Given the description of an element on the screen output the (x, y) to click on. 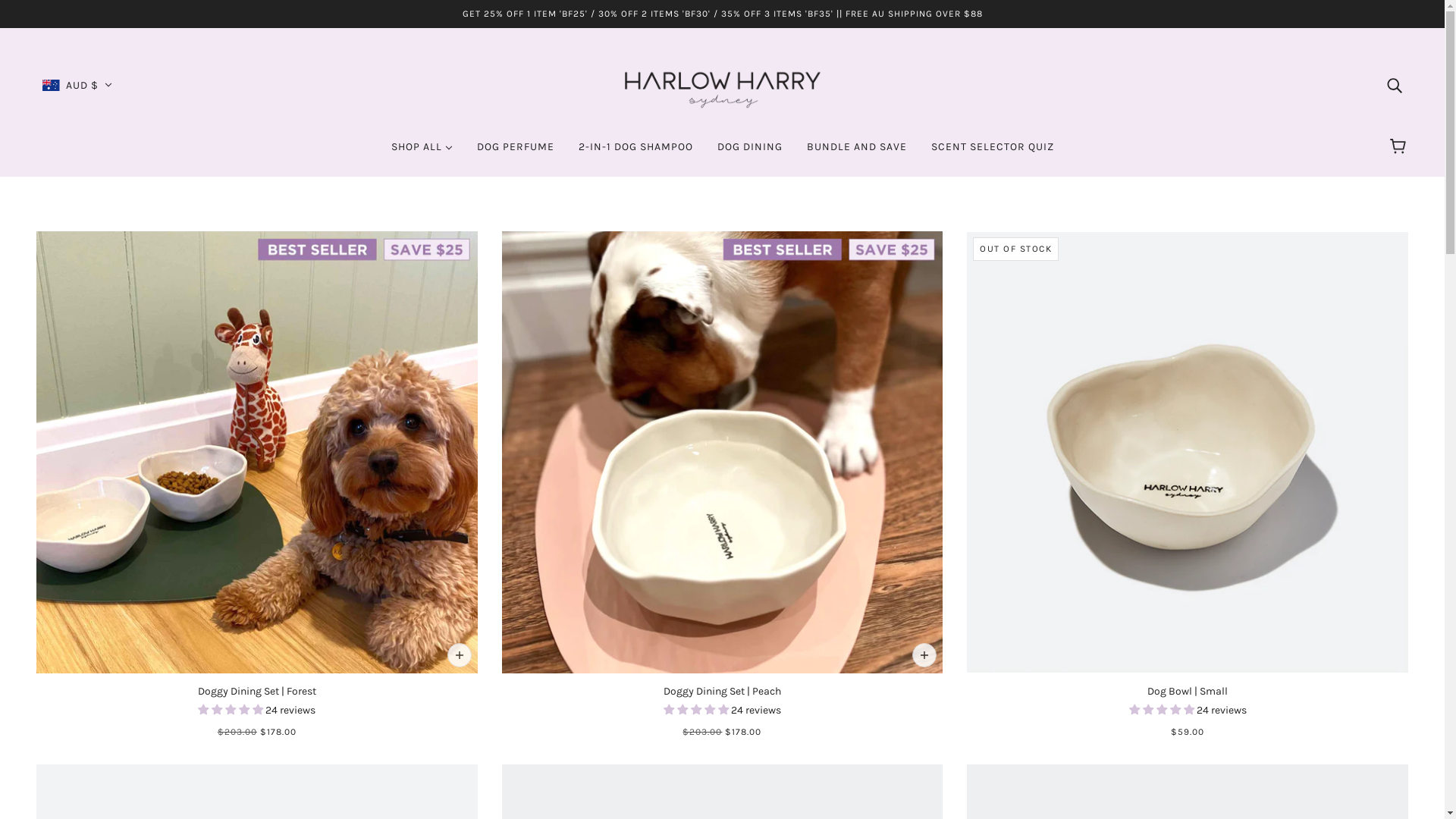
Doggy Dining Set | Peach
24 reviews
$203.00
$178.00 Element type: text (722, 485)
2-IN-1 DOG SHAMPOO Element type: text (634, 152)
SCENT SELECTOR QUIZ Element type: text (992, 152)
DOG DINING Element type: text (749, 152)
Doggy Dining Set | Forest
24 reviews
$203.00
$178.00 Element type: text (256, 485)
SHOP ALL Element type: text (421, 152)
BUNDLE AND SAVE Element type: text (856, 152)
Dog Bowl | Small
24 reviews
$59.00 Element type: text (1187, 485)
DOG PERFUME Element type: text (514, 152)
HARLOW HARRY Element type: hover (722, 83)
